Given the description of an element on the screen output the (x, y) to click on. 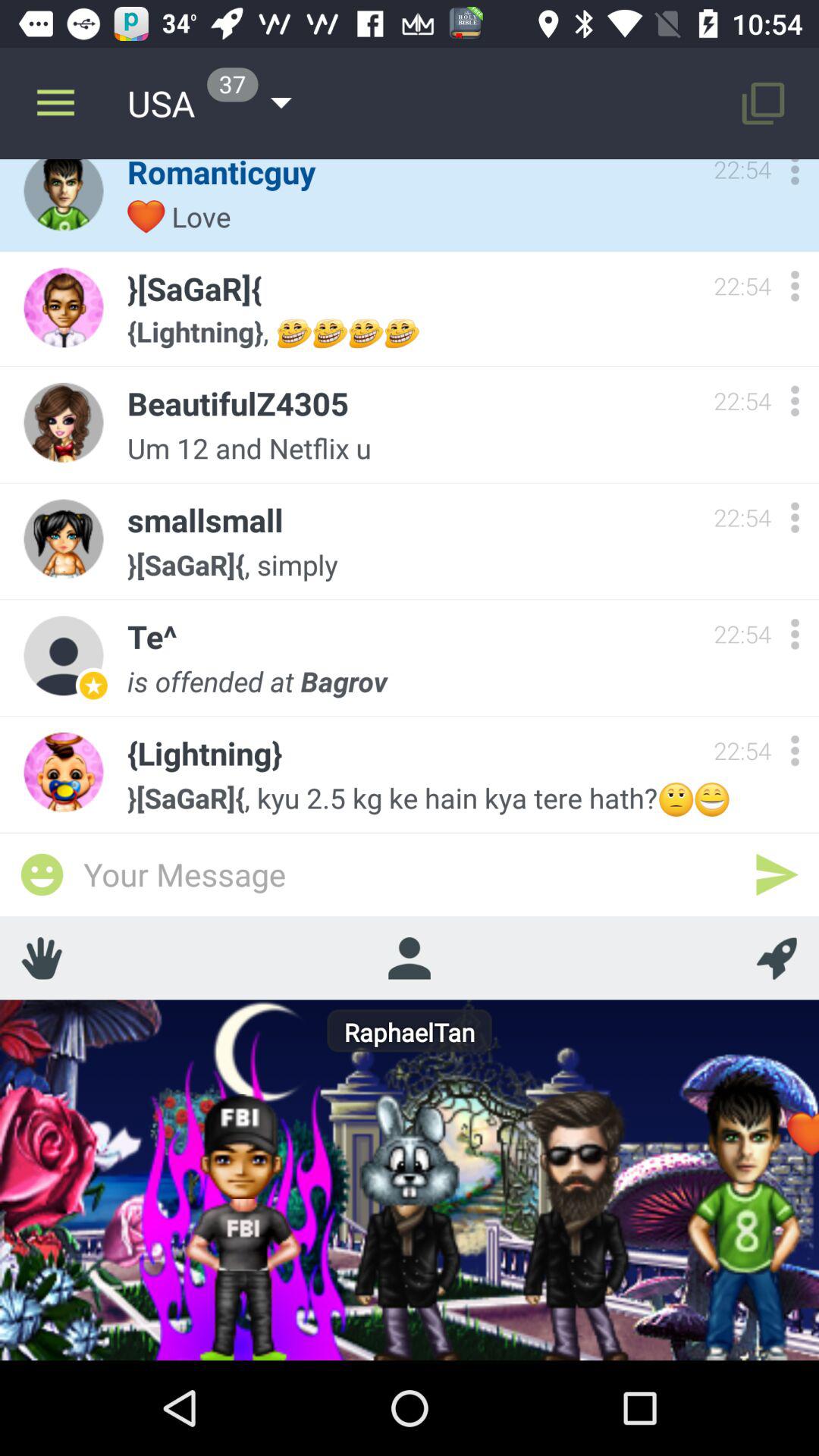
more information (795, 750)
